Given the description of an element on the screen output the (x, y) to click on. 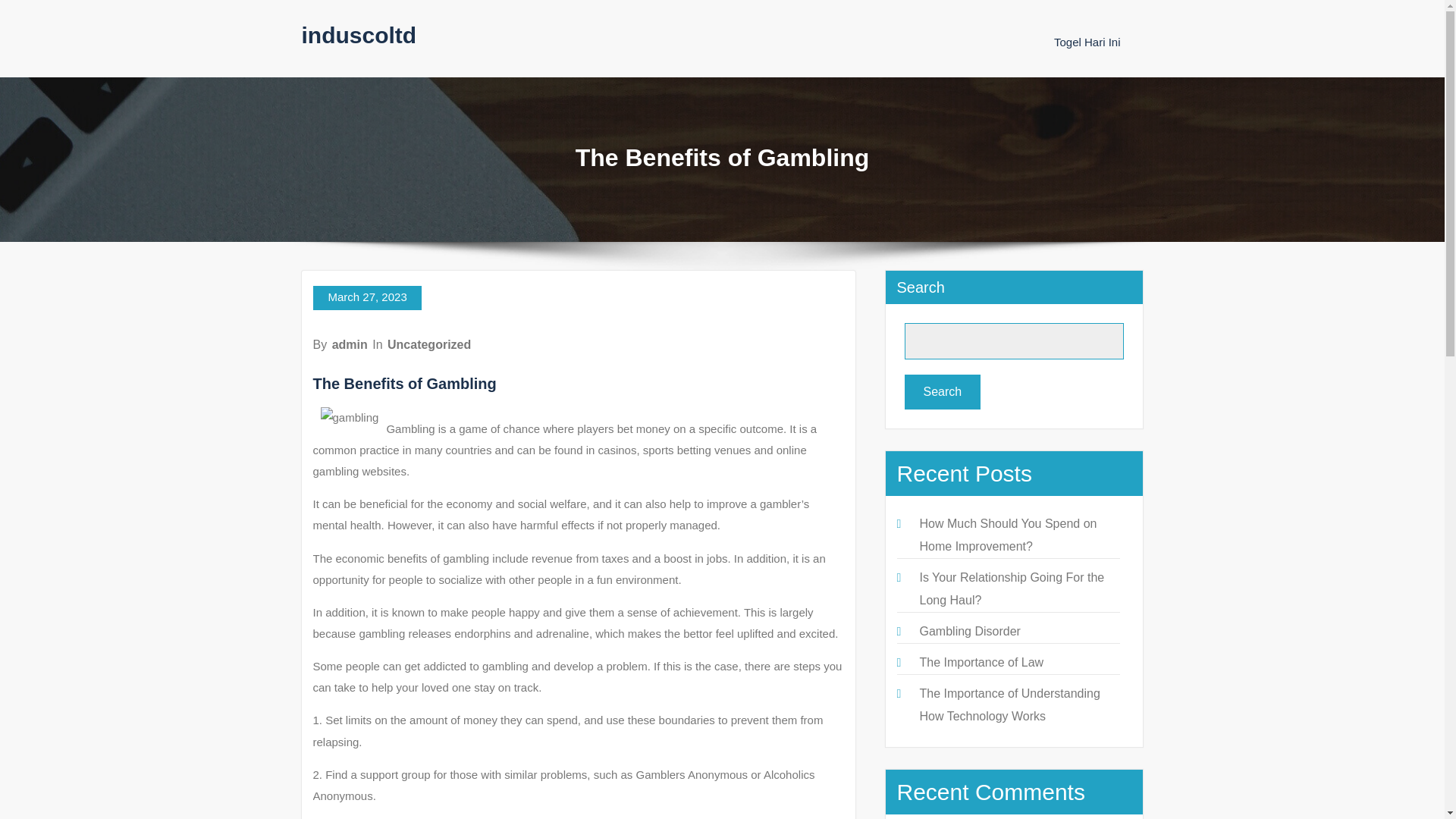
Uncategorized (428, 344)
Gambling Disorder (969, 631)
March 27, 2023 (366, 297)
The Importance of Law (980, 662)
Search (941, 391)
induscoltd (358, 34)
Togel Hari Ini (1087, 41)
admin (349, 344)
Is Your Relationship Going For the Long Haul? (1010, 588)
How Much Should You Spend on Home Improvement? (1007, 534)
The Importance of Understanding How Technology Works (1008, 704)
